Given the description of an element on the screen output the (x, y) to click on. 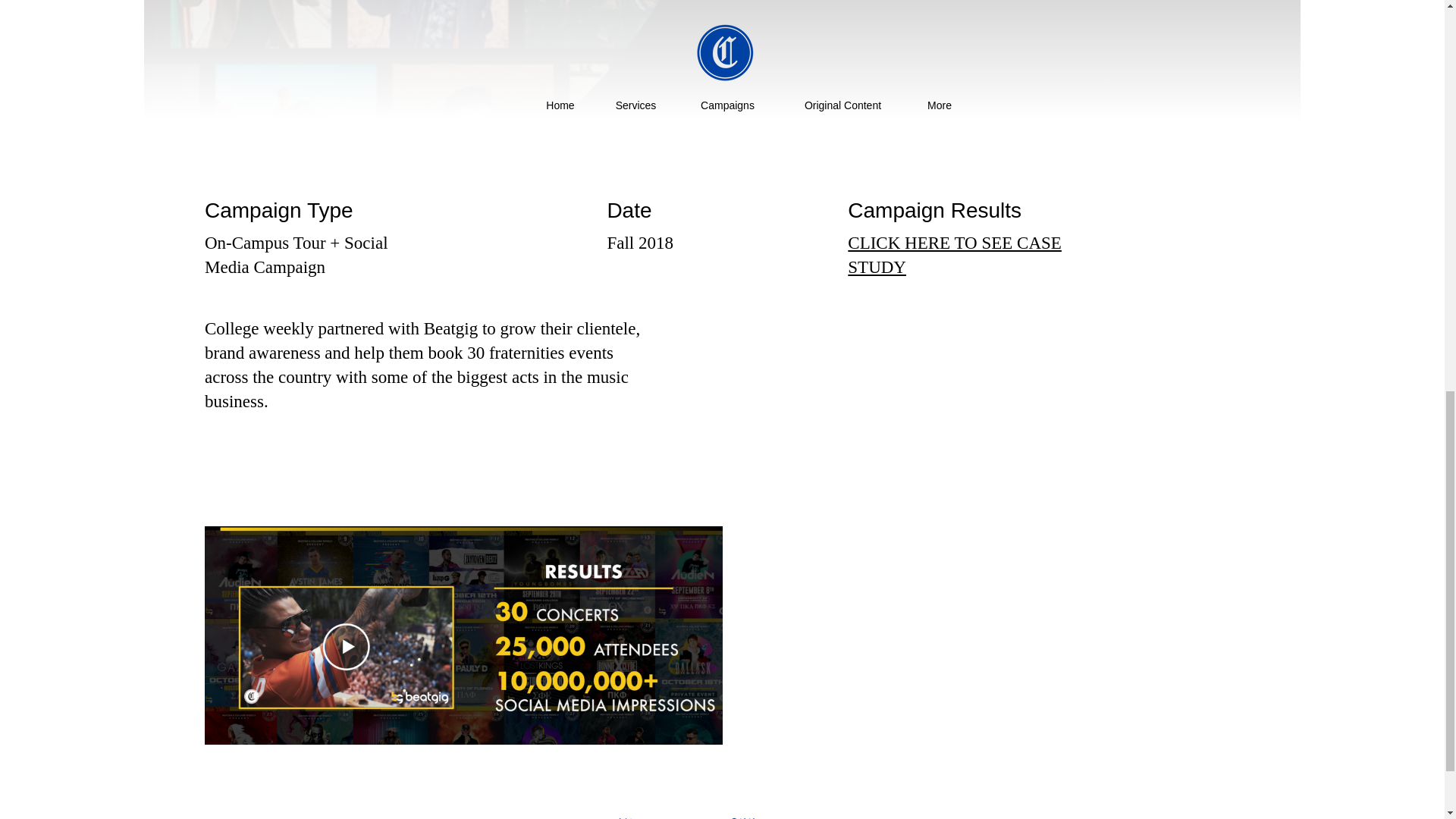
CLICK HERE TO SEE CASE STUDY (954, 254)
Previous Project (272, 815)
Next Project (1186, 815)
